Given the description of an element on the screen output the (x, y) to click on. 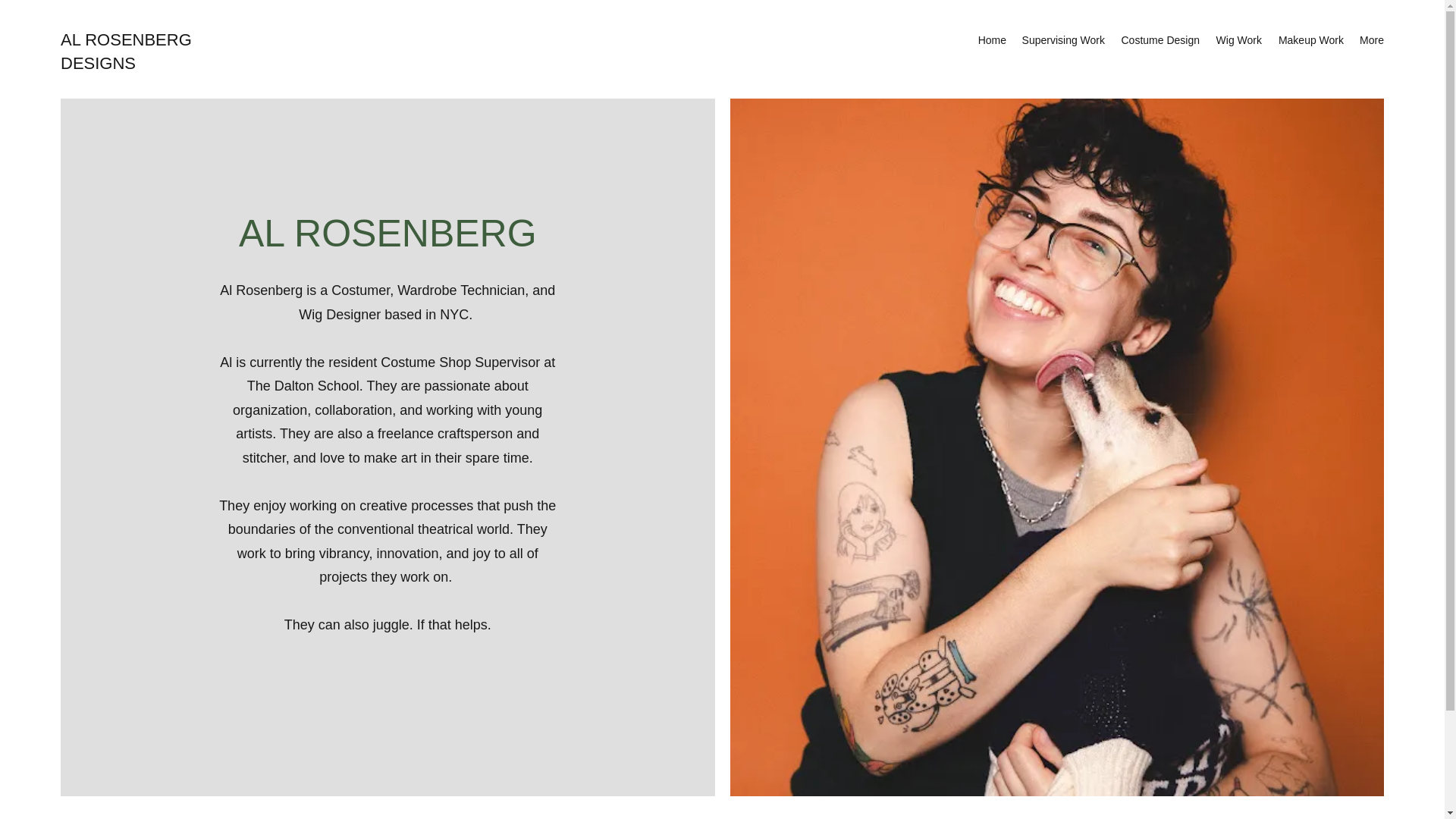
AL ROSENBERG DESIGNS (126, 51)
Wig Work (1238, 39)
Home (991, 39)
Supervising Work (1062, 39)
Costume Design (1159, 39)
Makeup Work (1310, 39)
